Given the description of an element on the screen output the (x, y) to click on. 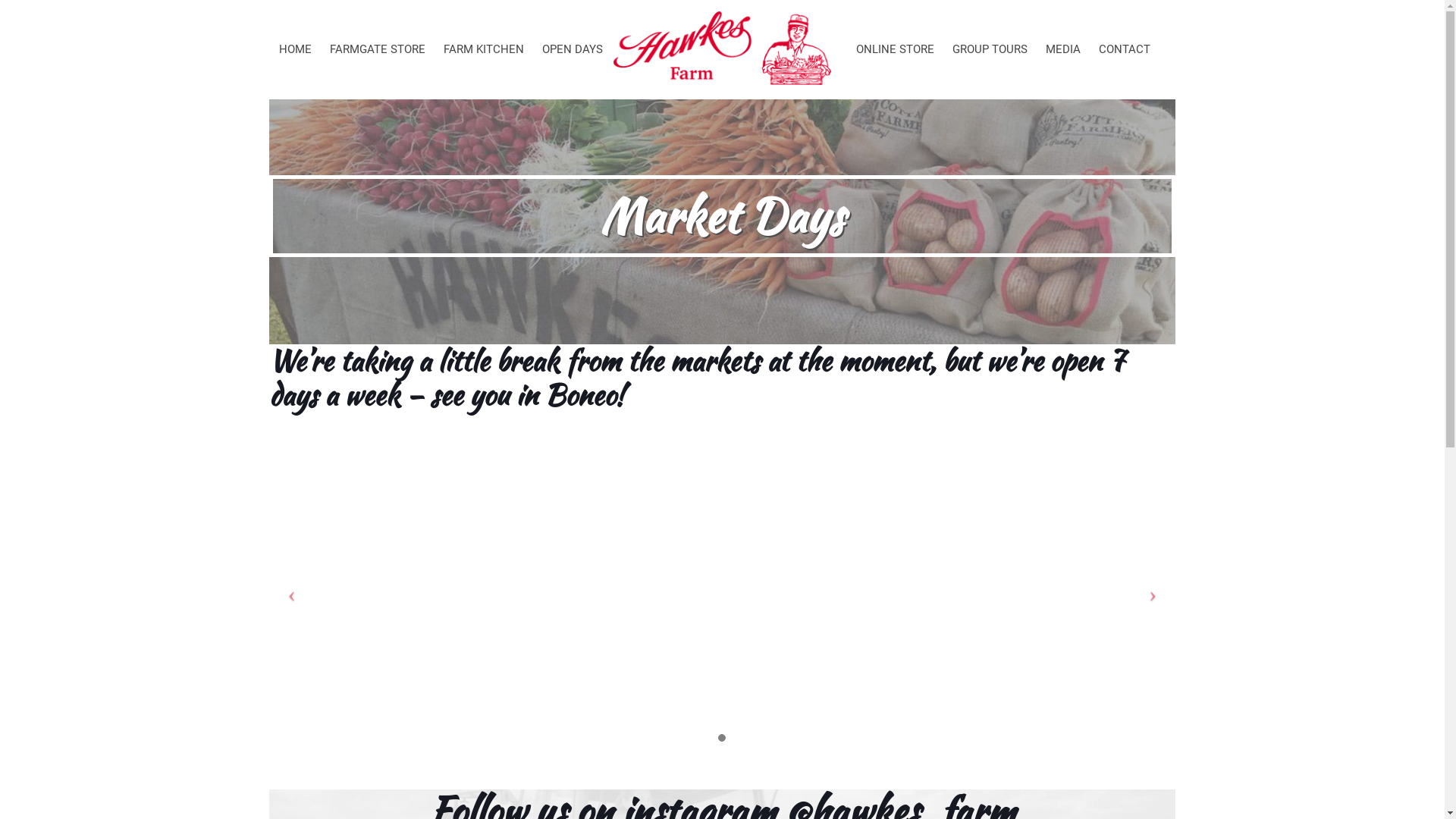
FARM KITCHEN Element type: text (483, 49)
OPEN DAYS Element type: text (572, 49)
GROUP TOURS Element type: text (989, 49)
MEDIA Element type: text (1063, 49)
ONLINE STORE Element type: text (894, 49)
Hawkes Farm Element type: hover (722, 34)
HOME Element type: text (295, 49)
CONTACT Element type: text (1124, 49)
FARMGATE STORE Element type: text (377, 49)
